Given the description of an element on the screen output the (x, y) to click on. 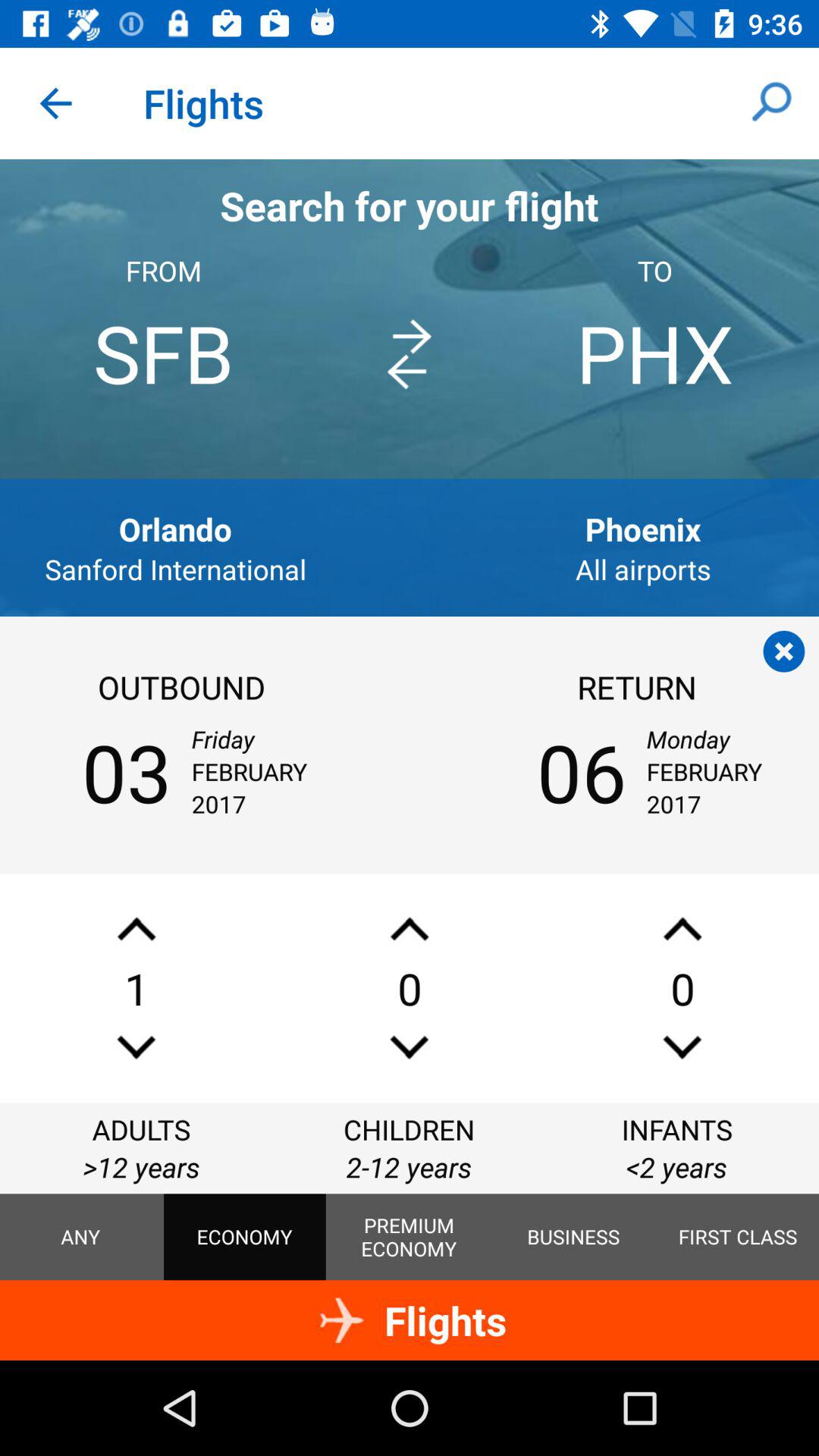
add persons (409, 1047)
